Given the description of an element on the screen output the (x, y) to click on. 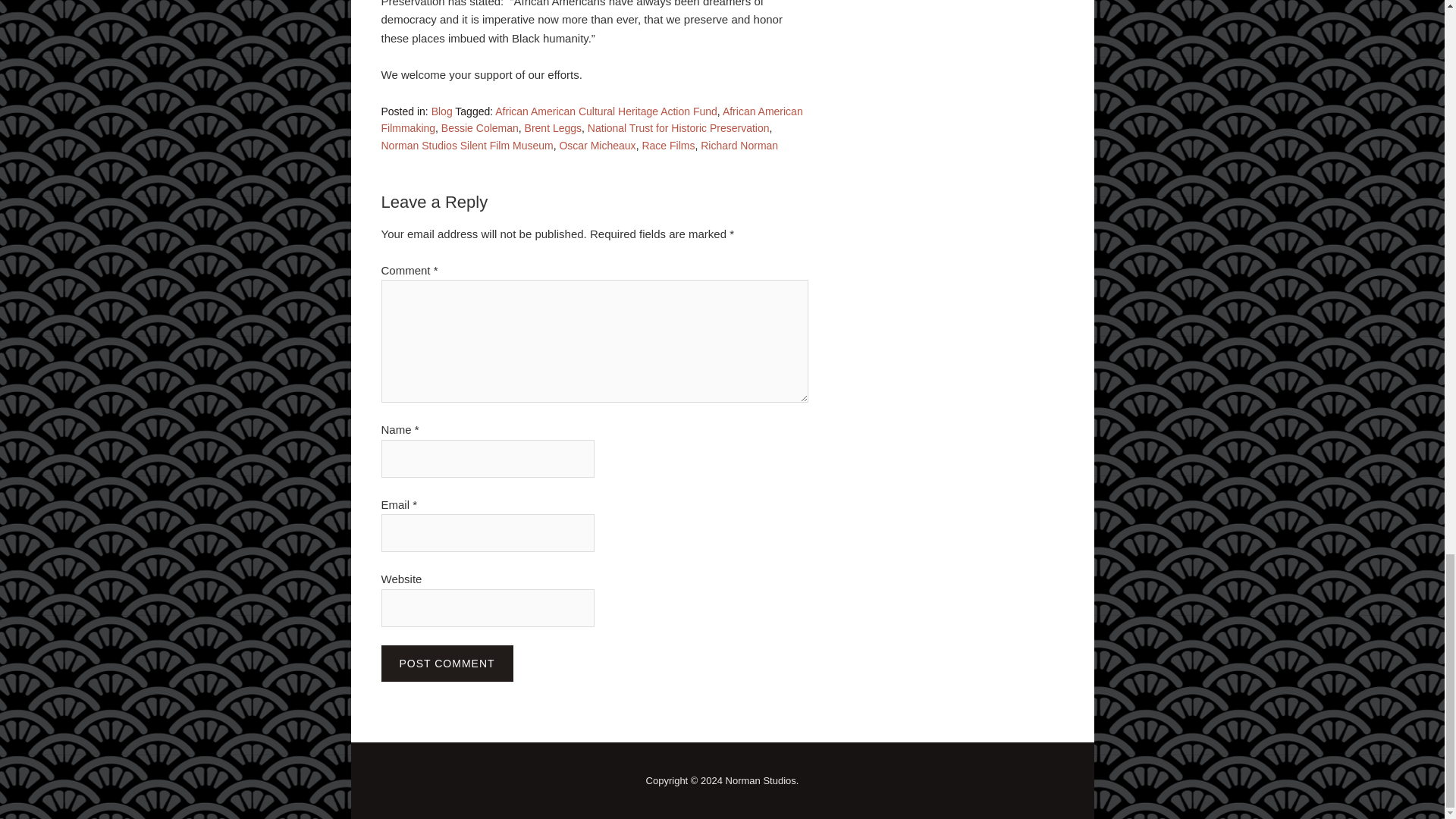
Post Comment (446, 662)
